Given the description of an element on the screen output the (x, y) to click on. 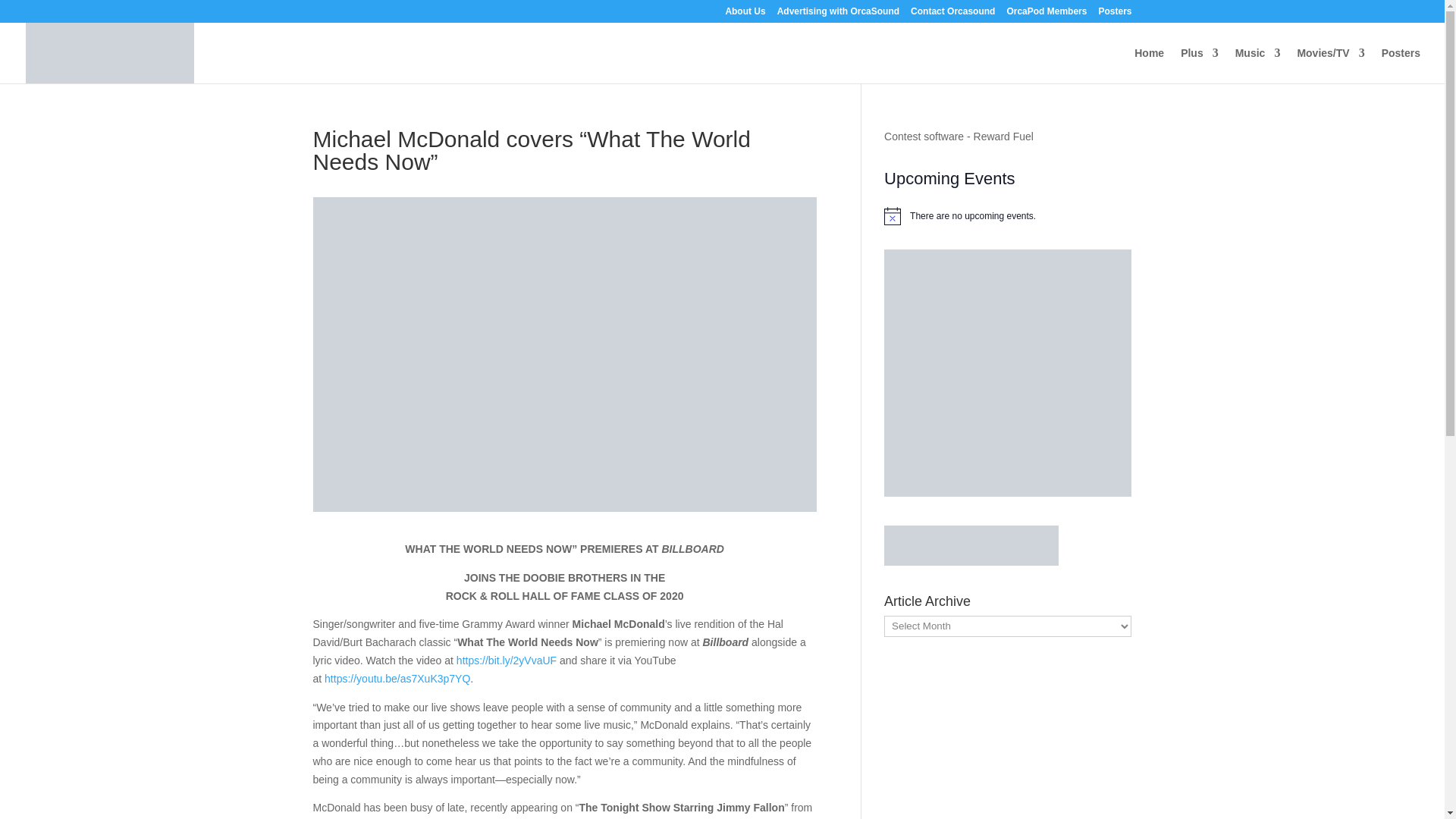
About Us (745, 14)
Music (1257, 65)
Contact Orcasound (952, 14)
OrcaPod Members (1046, 14)
Posters (1114, 14)
Plus (1199, 65)
Advertising with OrcaSound (838, 14)
